Given the description of an element on the screen output the (x, y) to click on. 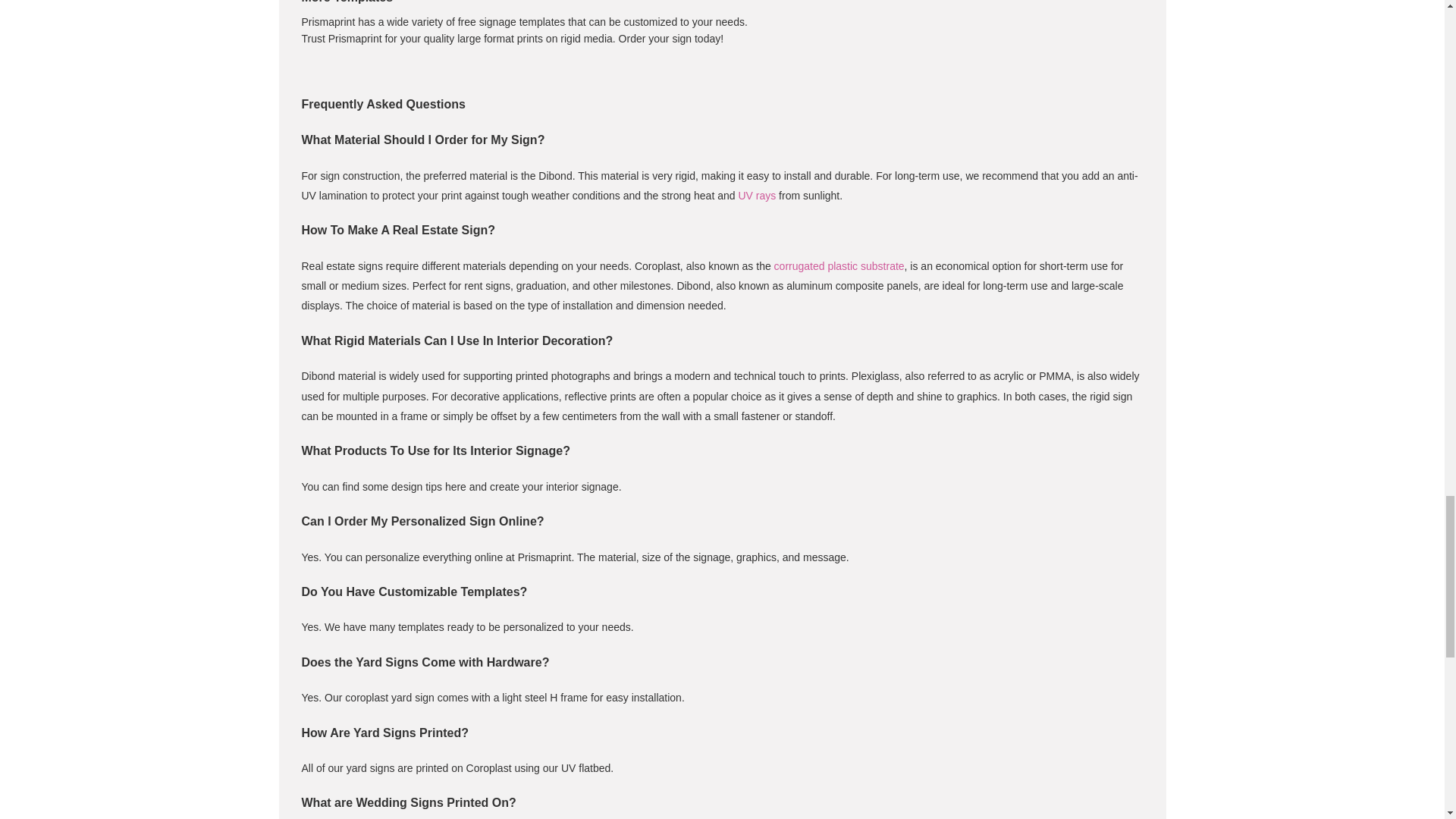
corrugated plastic substrate (839, 265)
UV rays (757, 195)
